Given the description of an element on the screen output the (x, y) to click on. 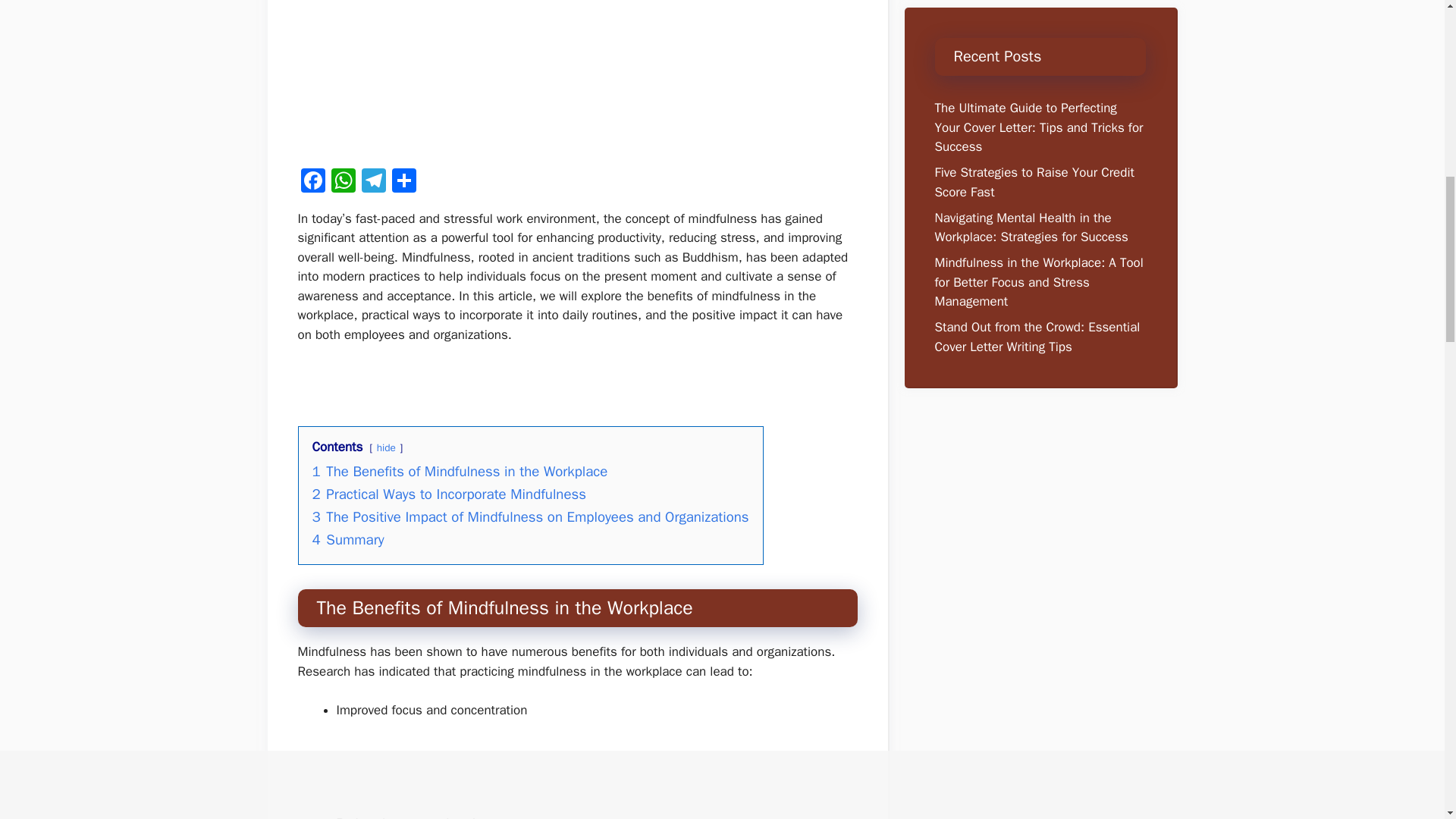
hide (386, 447)
1 The Benefits of Mindfulness in the Workplace (460, 471)
Telegram (373, 182)
WhatsApp (342, 182)
2 Practical Ways to Incorporate Mindfulness (449, 494)
Facebook (312, 182)
Telegram (373, 182)
4 Summary (348, 539)
Facebook (312, 182)
WhatsApp (342, 182)
